Given the description of an element on the screen output the (x, y) to click on. 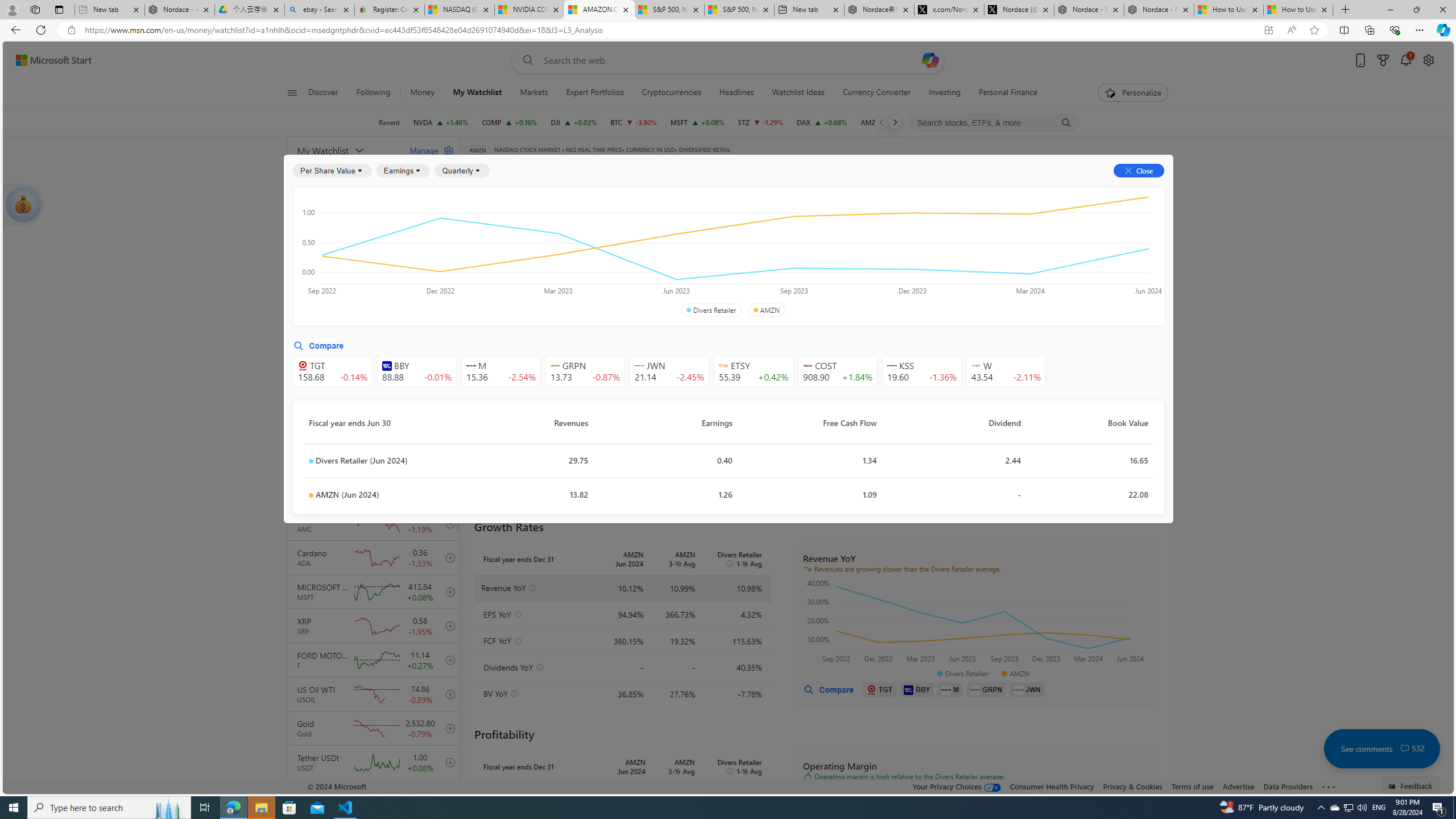
Your Privacy Choices (956, 785)
Nordace (@NordaceOfficial) / X (1018, 9)
DAX DAX increase 18,808.50 +126.69 +0.68% (821, 122)
Watchlist (654, 166)
